Given the description of an element on the screen output the (x, y) to click on. 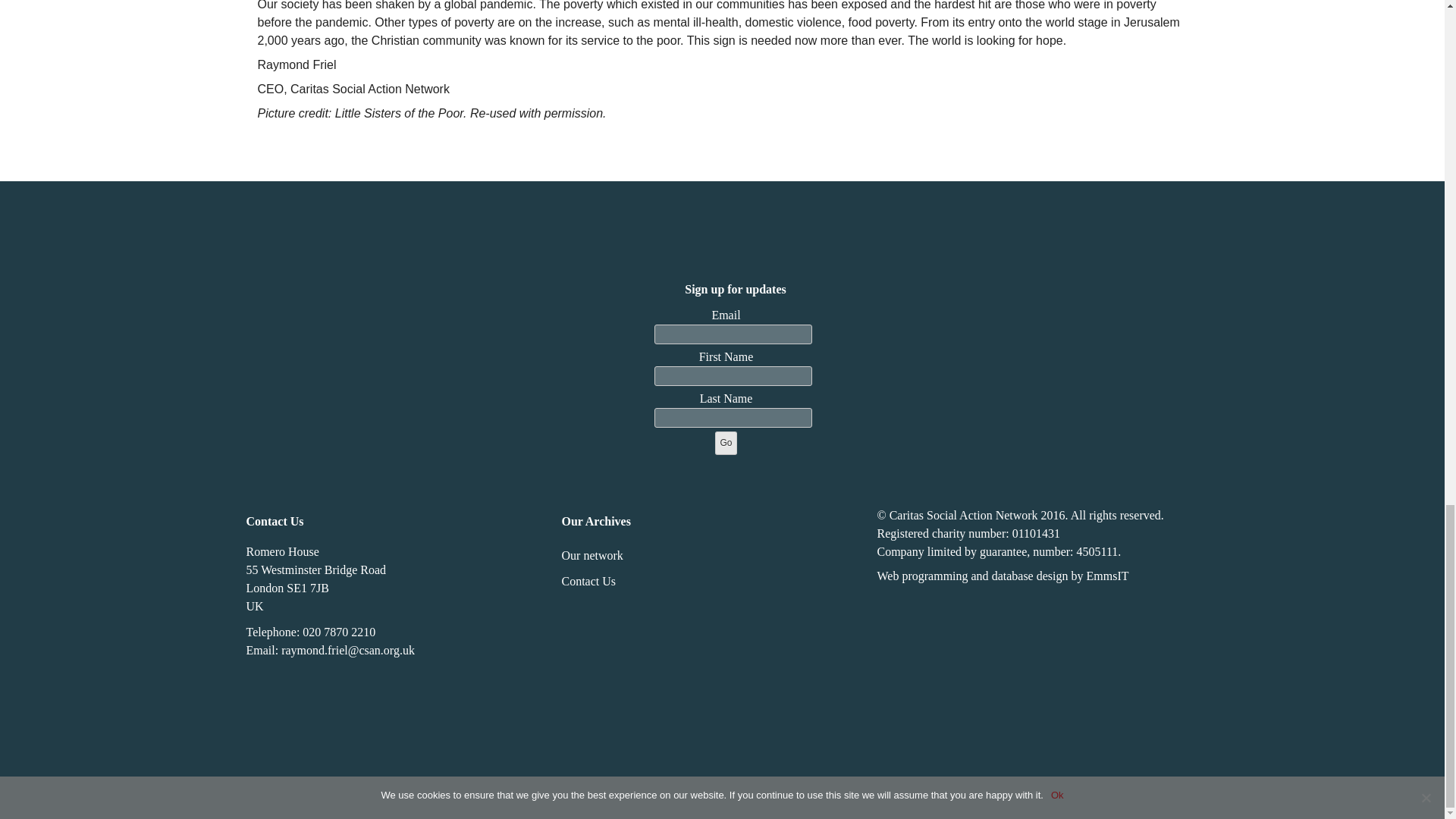
Go (725, 443)
